Given the description of an element on the screen output the (x, y) to click on. 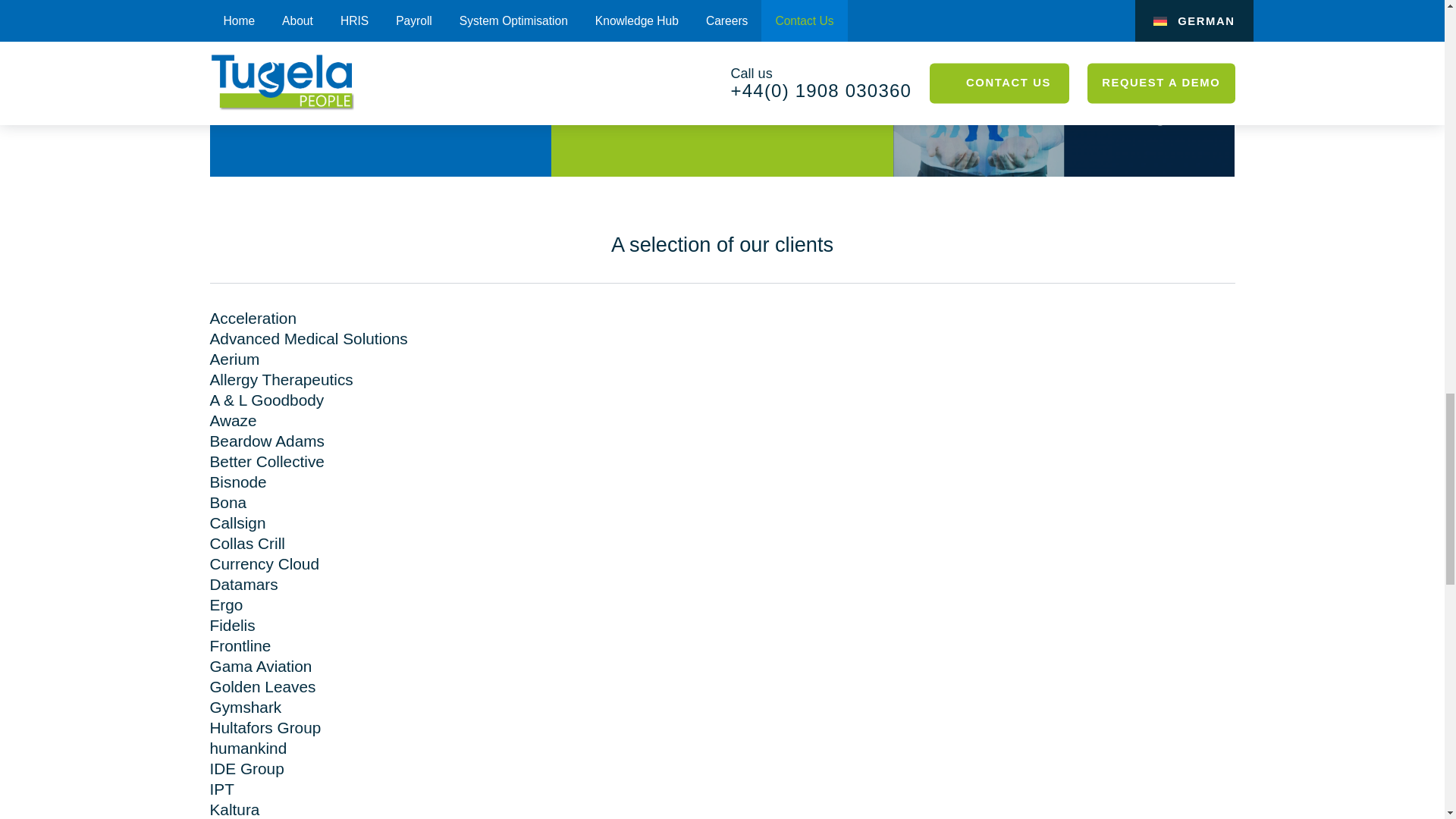
Allergy Therapeutics (280, 379)
Advanced Medical Solutions (308, 338)
CLICK TO SUBSCRIBE (679, 104)
Aerium (234, 358)
VISIT THE GUIDES SECTION TO LEARN MORE! (379, 43)
Acceleration (252, 317)
